Given the description of an element on the screen output the (x, y) to click on. 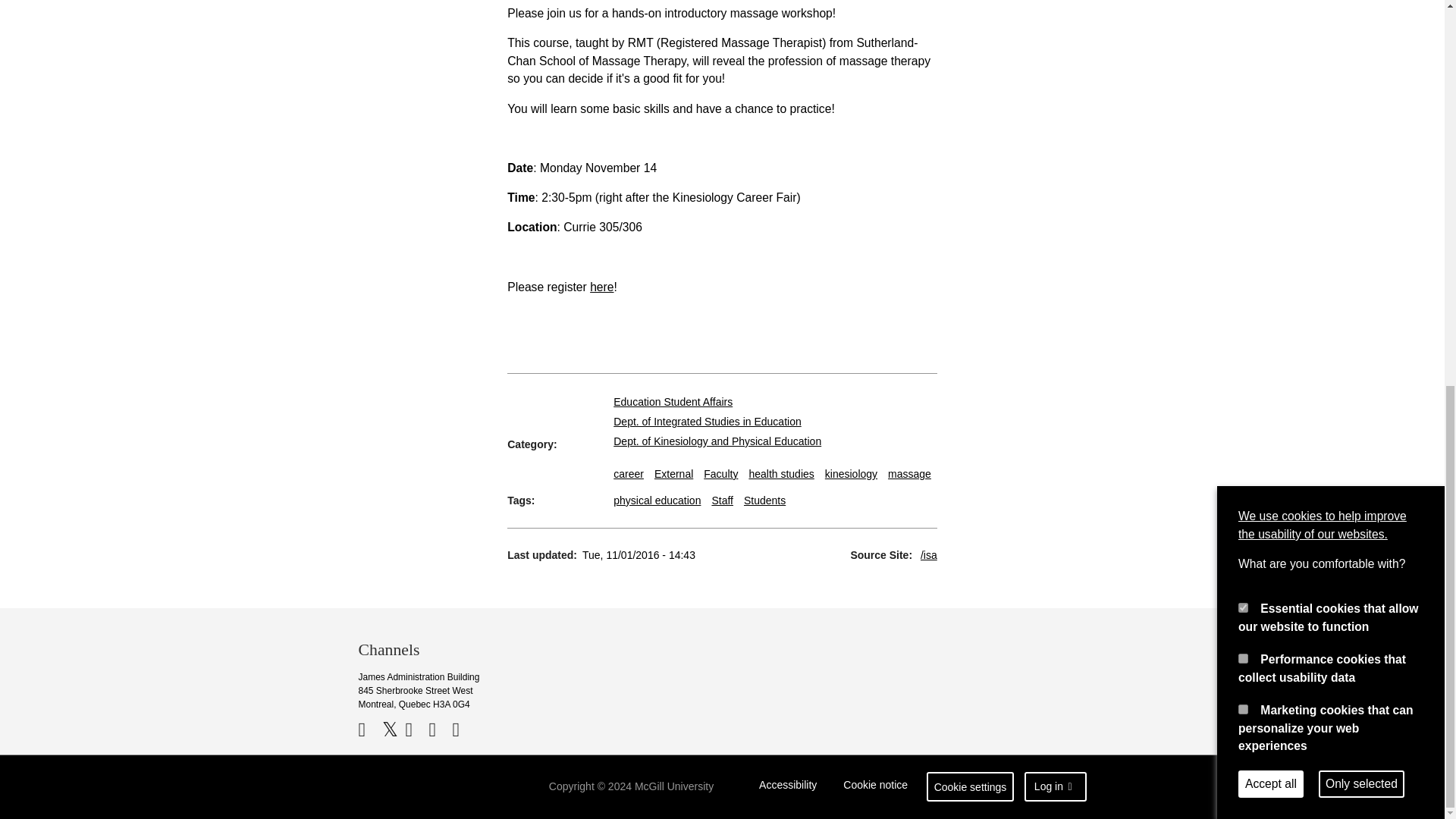
Accept all (1271, 54)
Cookie notice (875, 786)
Follow us on Instagram (461, 729)
return to McGill University (417, 786)
Follow us on X (392, 729)
Education Student Affairs (672, 401)
LinkedIn (439, 729)
Dept. of Kinesiology and Physical Education (716, 440)
Accessibility (788, 786)
Follow us on Facebook (368, 729)
massage (909, 473)
Accessibility (788, 786)
Faculty (720, 473)
Only selected (1362, 54)
physical education (656, 500)
